Given the description of an element on the screen output the (x, y) to click on. 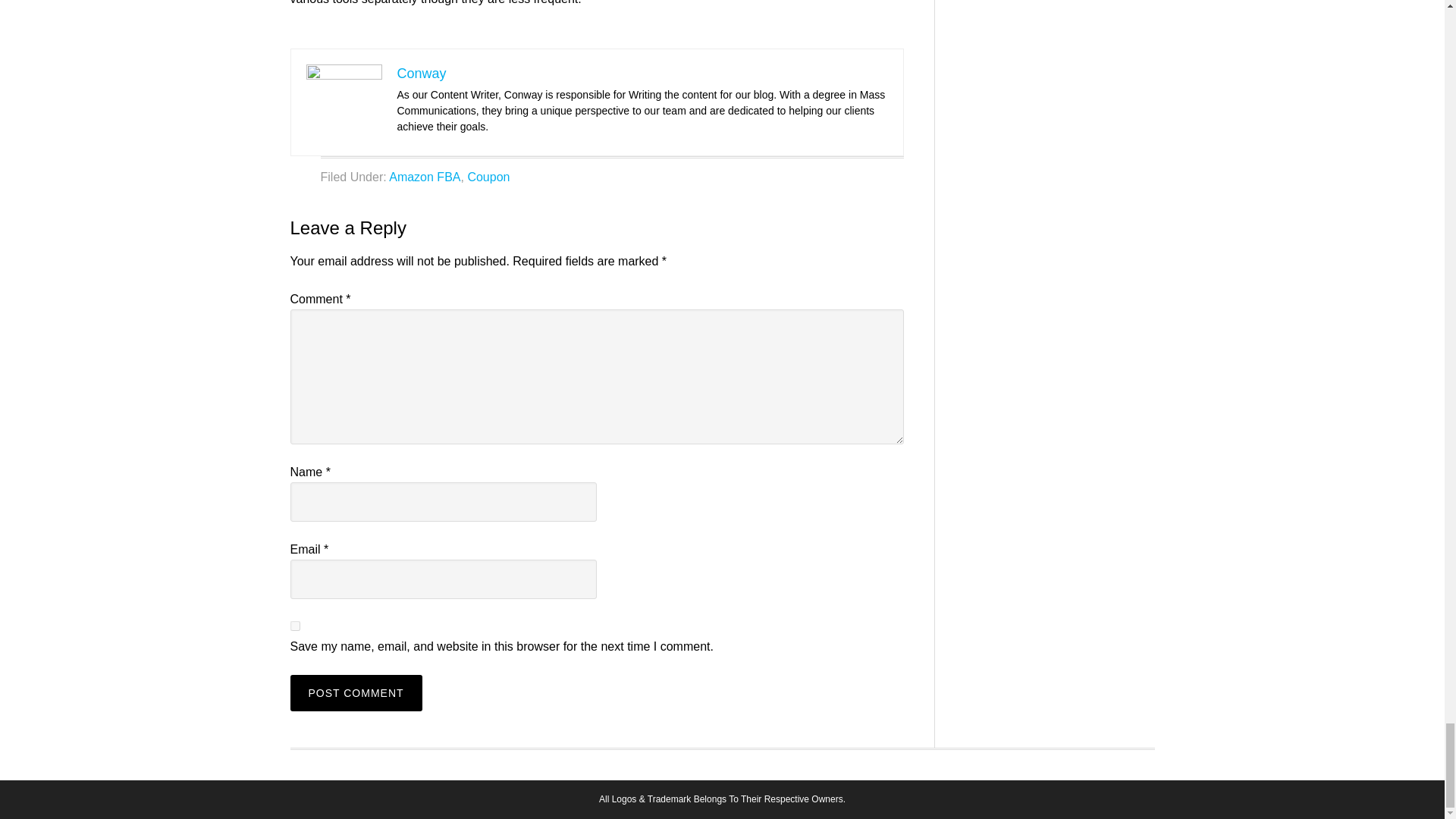
Coupon (488, 176)
Post Comment (355, 692)
Amazon FBA (424, 176)
yes (294, 625)
Post Comment (355, 692)
Conway (421, 73)
